Given the description of an element on the screen output the (x, y) to click on. 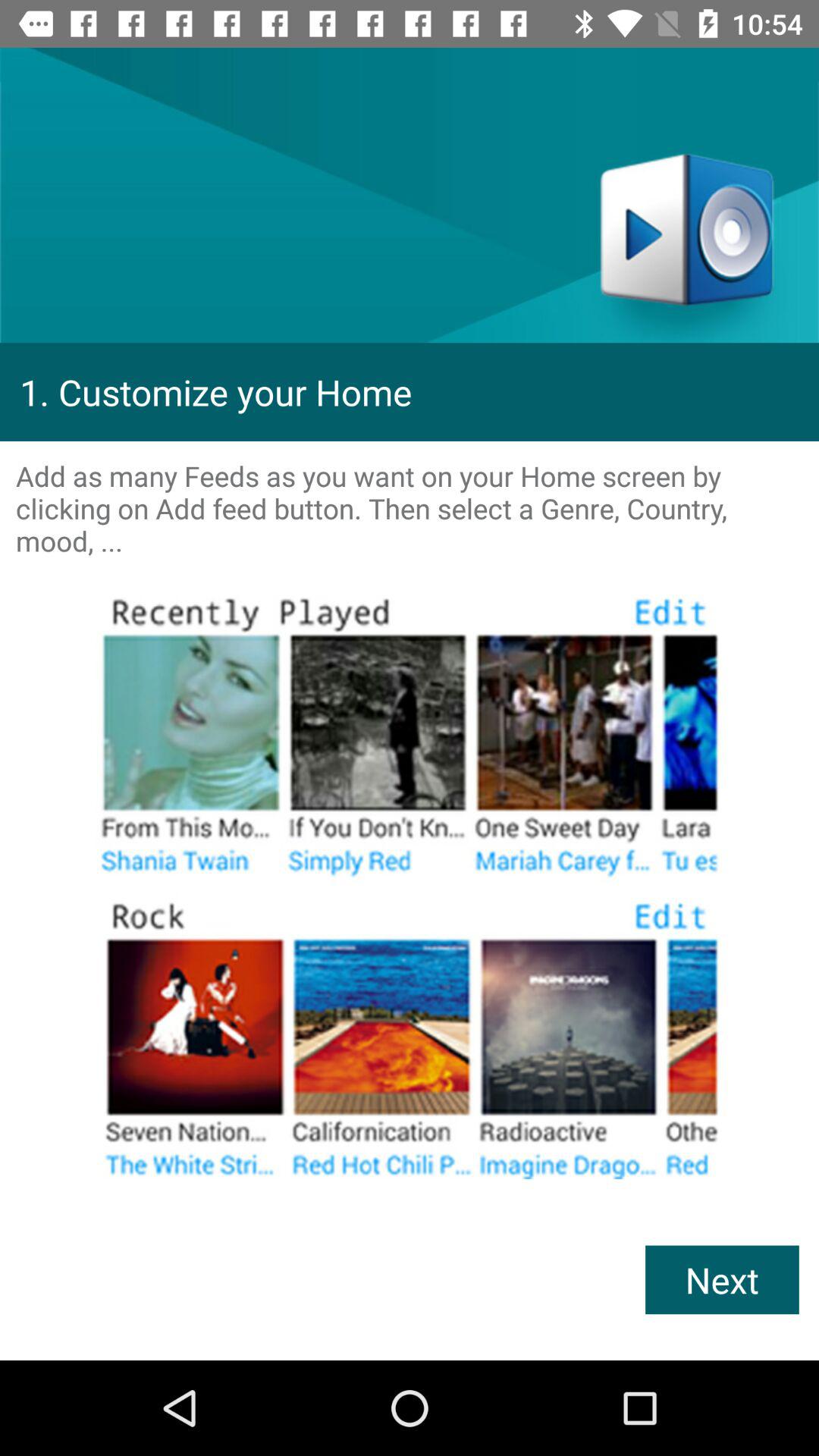
tap next icon (722, 1279)
